Given the description of an element on the screen output the (x, y) to click on. 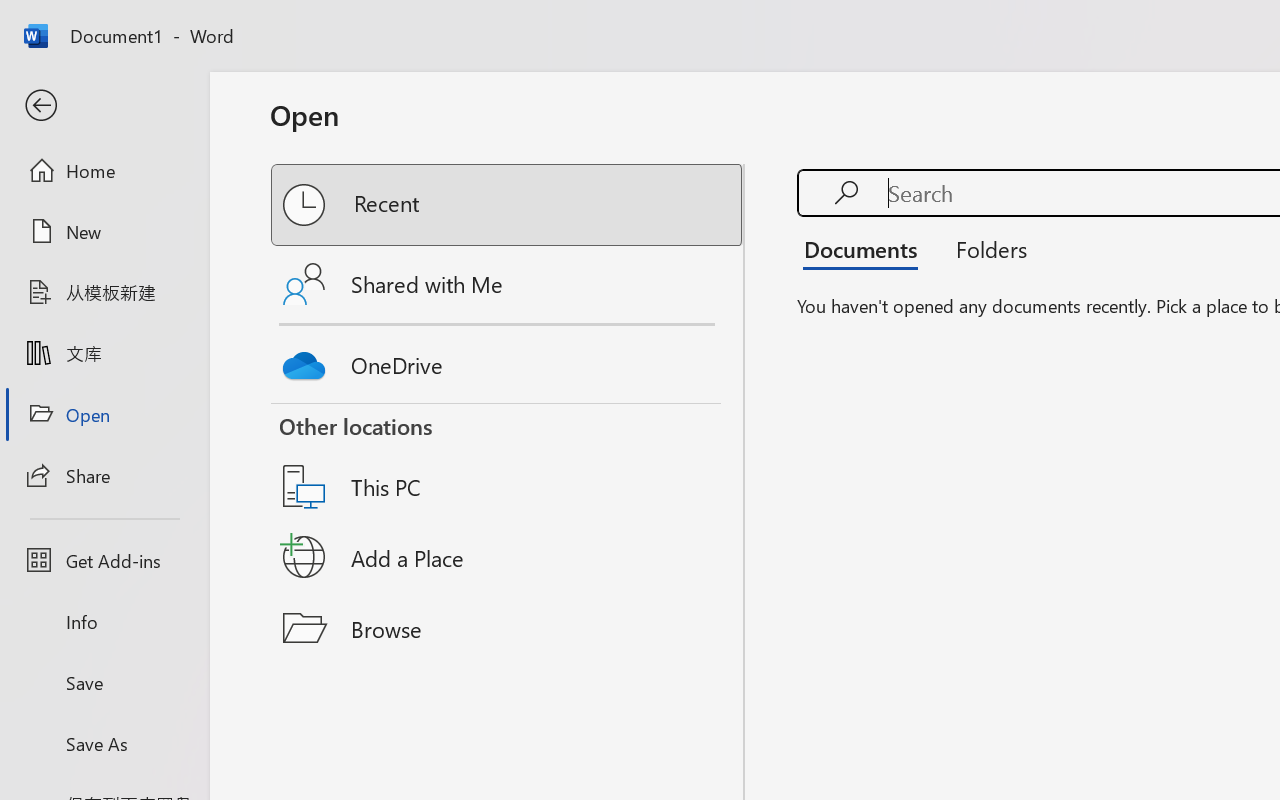
Info (104, 621)
Recent (507, 205)
Shared with Me (507, 283)
New (104, 231)
Back (104, 106)
